Given the description of an element on the screen output the (x, y) to click on. 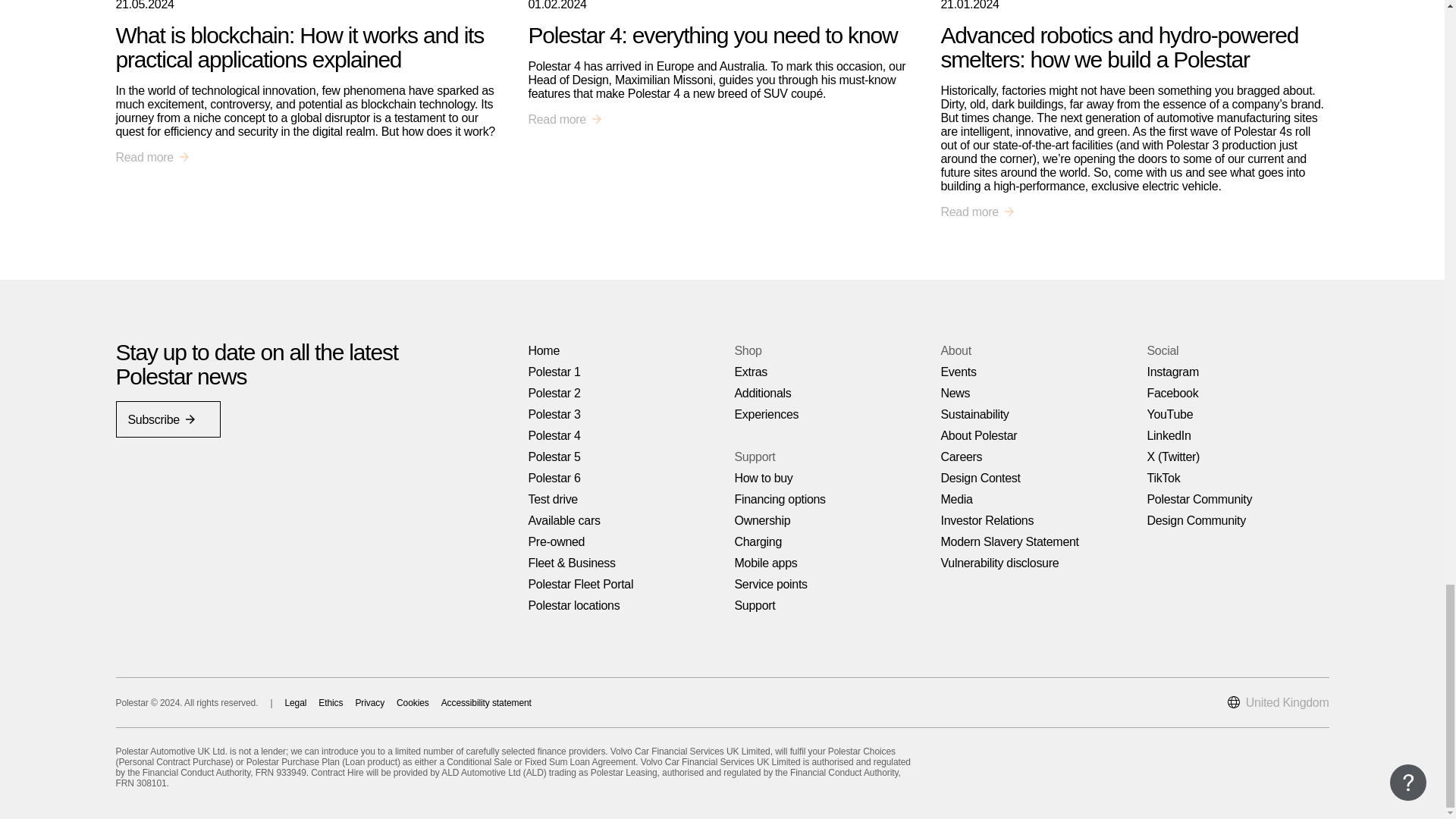
Read more (152, 157)
Read more (564, 119)
